Given the description of an element on the screen output the (x, y) to click on. 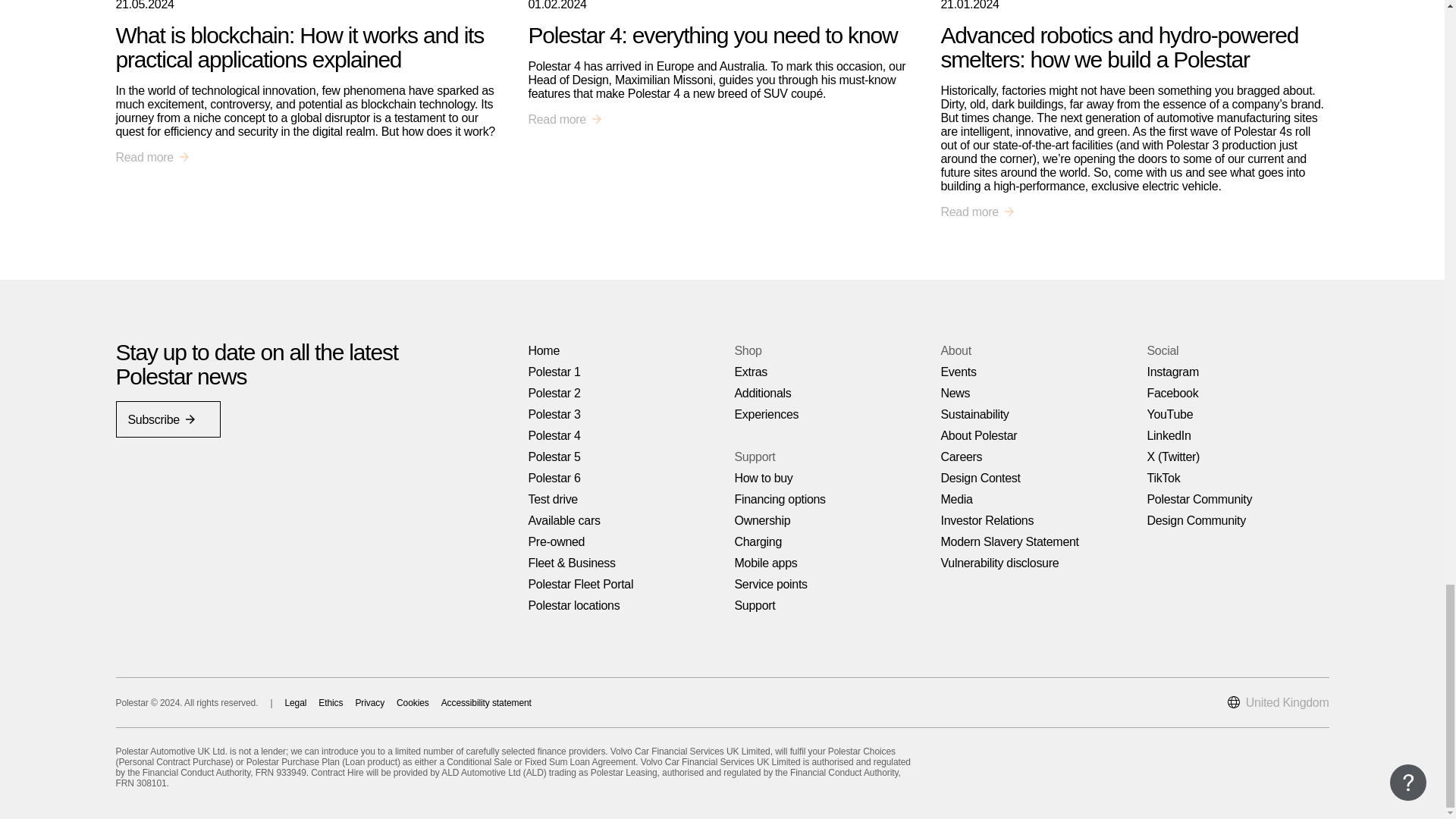
Read more (152, 157)
Read more (564, 119)
